Given the description of an element on the screen output the (x, y) to click on. 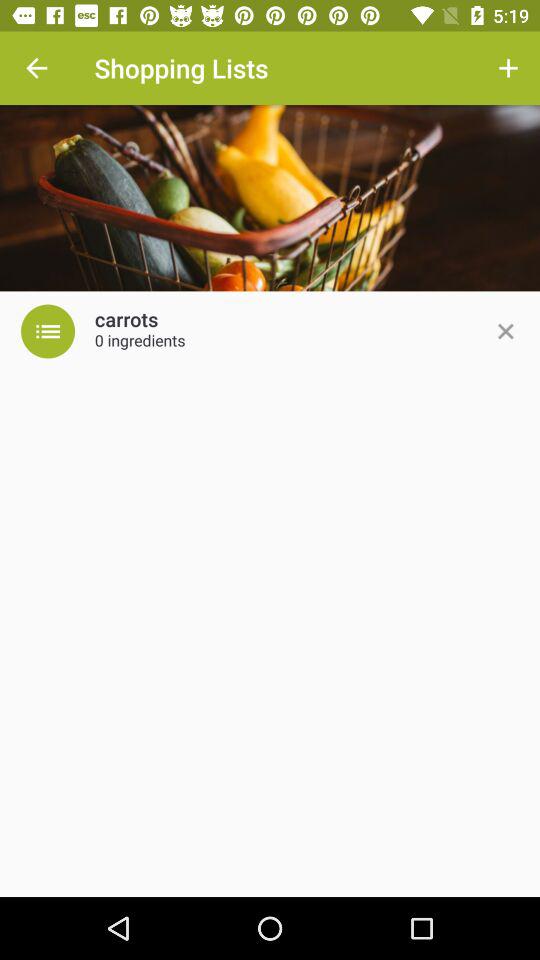
close (505, 331)
